Given the description of an element on the screen output the (x, y) to click on. 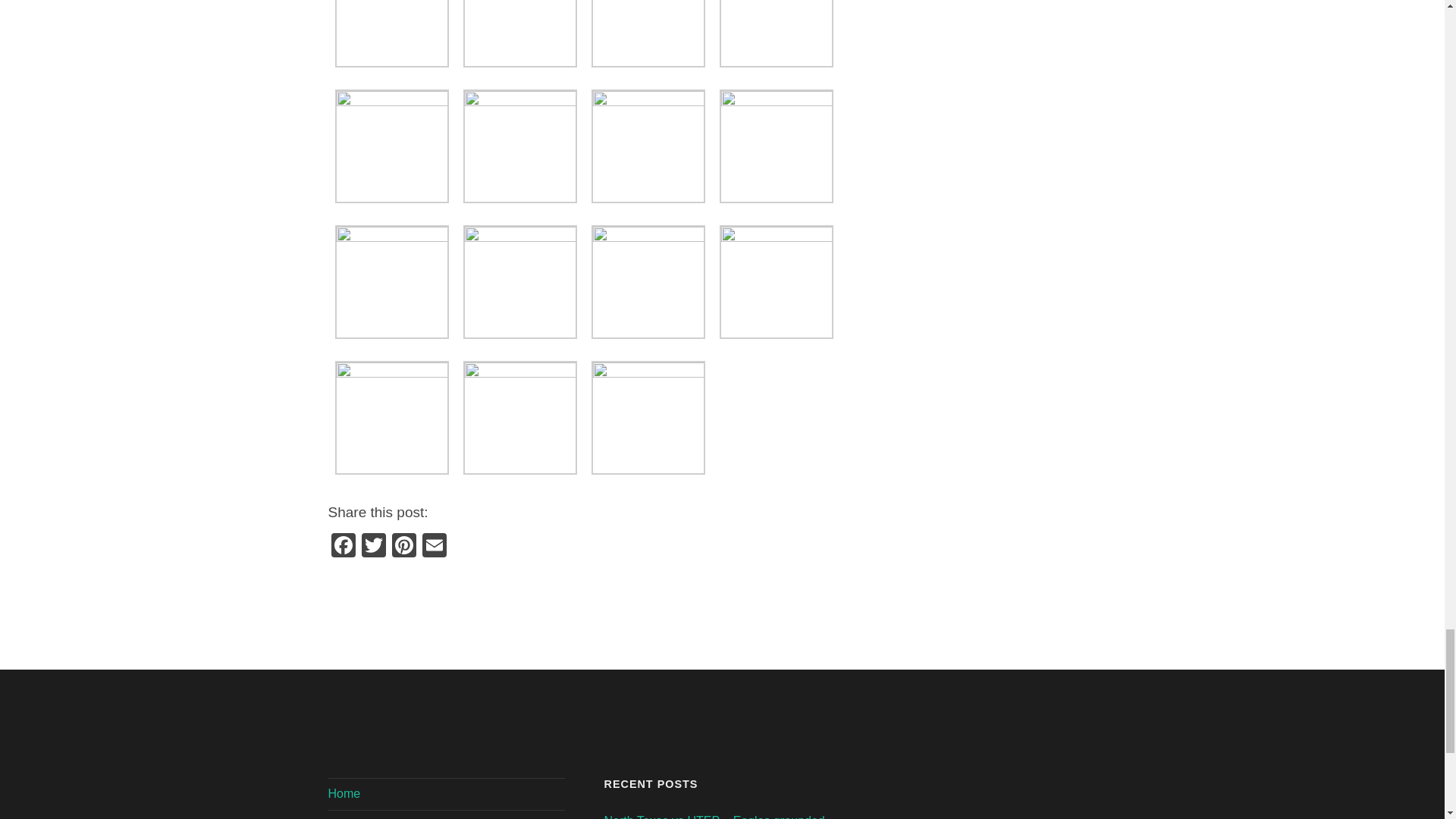
Pinterest (403, 547)
Email (433, 547)
Facebook (342, 547)
Twitter (373, 547)
